Given the description of an element on the screen output the (x, y) to click on. 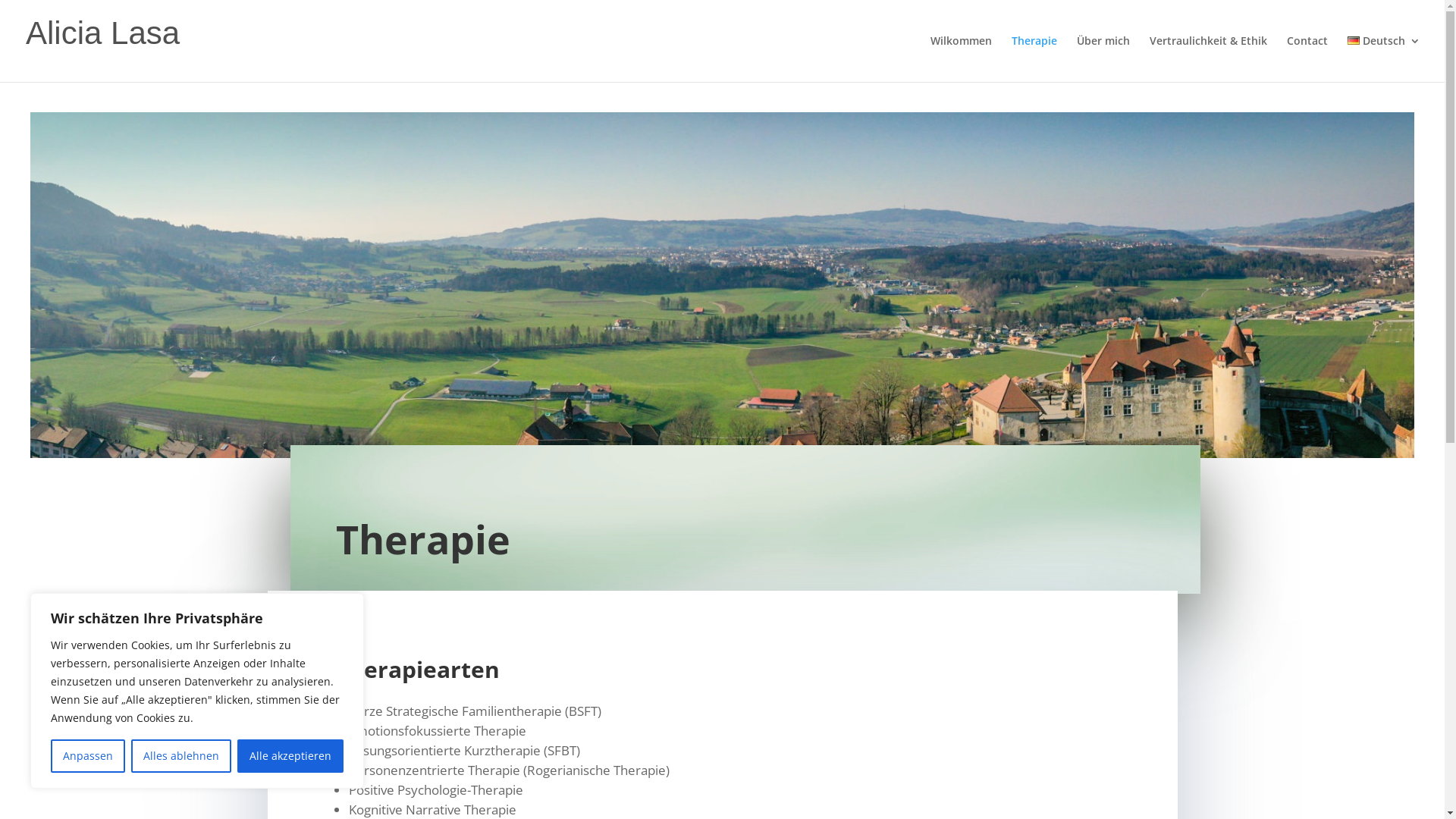
Anpassen Element type: text (87, 755)
Alles ablehnen Element type: text (181, 755)
Alicia Lasa Element type: text (102, 39)
Alle akzeptieren Element type: text (290, 755)
Wilkommen Element type: text (960, 58)
Contact Element type: text (1306, 58)
Therapie Element type: text (1034, 58)
Vertraulichkeit & Ethik Element type: text (1208, 58)
Deutsch Element type: text (1383, 58)
